Given the description of an element on the screen output the (x, y) to click on. 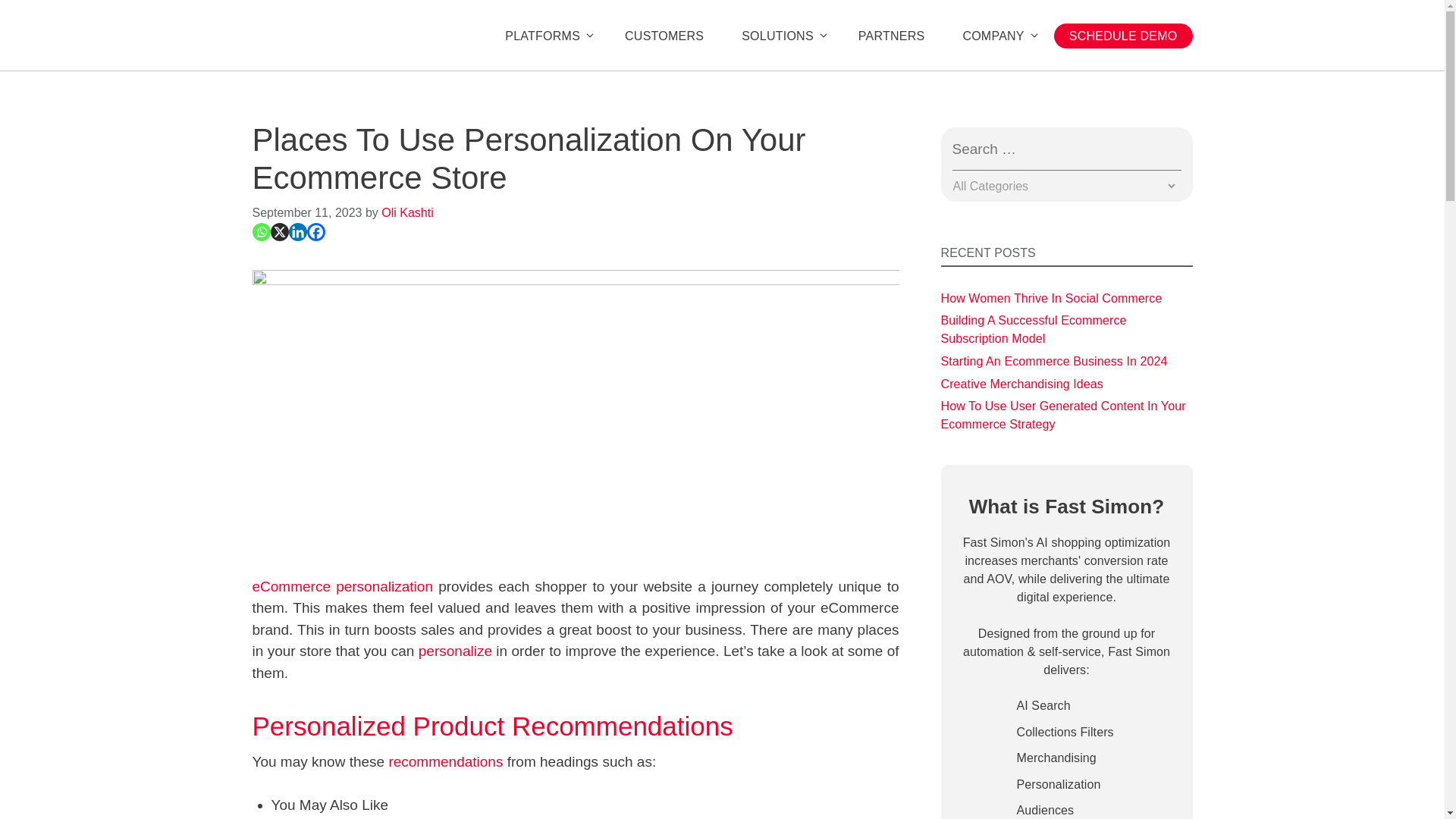
View all posts by Oli Kashti (406, 212)
Linkedin (296, 231)
COMPANY (996, 35)
PARTNERS (891, 35)
Whatsapp (260, 231)
X (278, 231)
SOLUTIONS (780, 35)
PLATFORMS (545, 35)
Facebook (314, 231)
Submit (1174, 150)
SCHEDULE DEMO (1123, 35)
CUSTOMERS (664, 35)
